Given the description of an element on the screen output the (x, y) to click on. 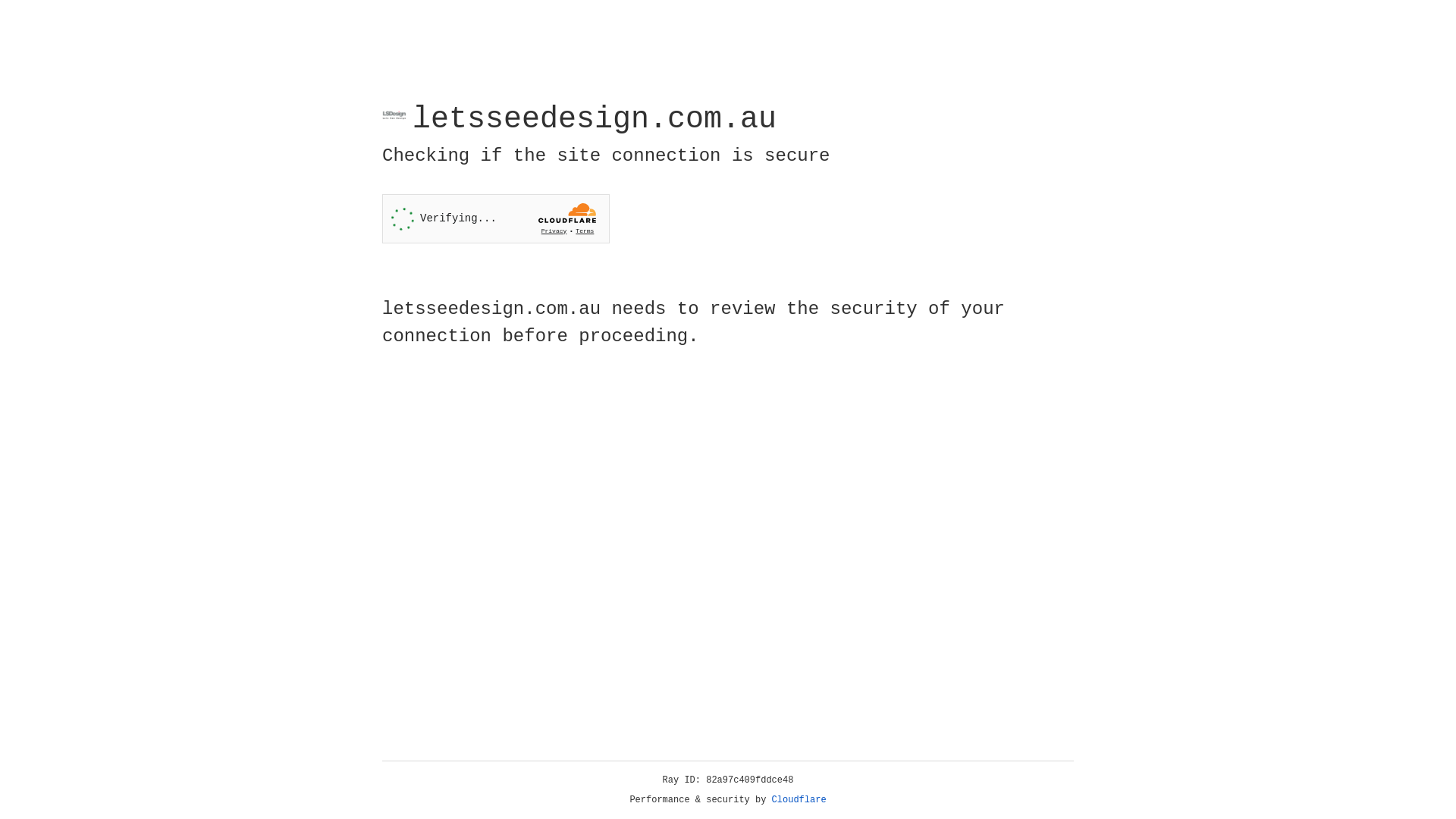
Cloudflare Element type: text (798, 799)
Widget containing a Cloudflare security challenge Element type: hover (495, 218)
